Given the description of an element on the screen output the (x, y) to click on. 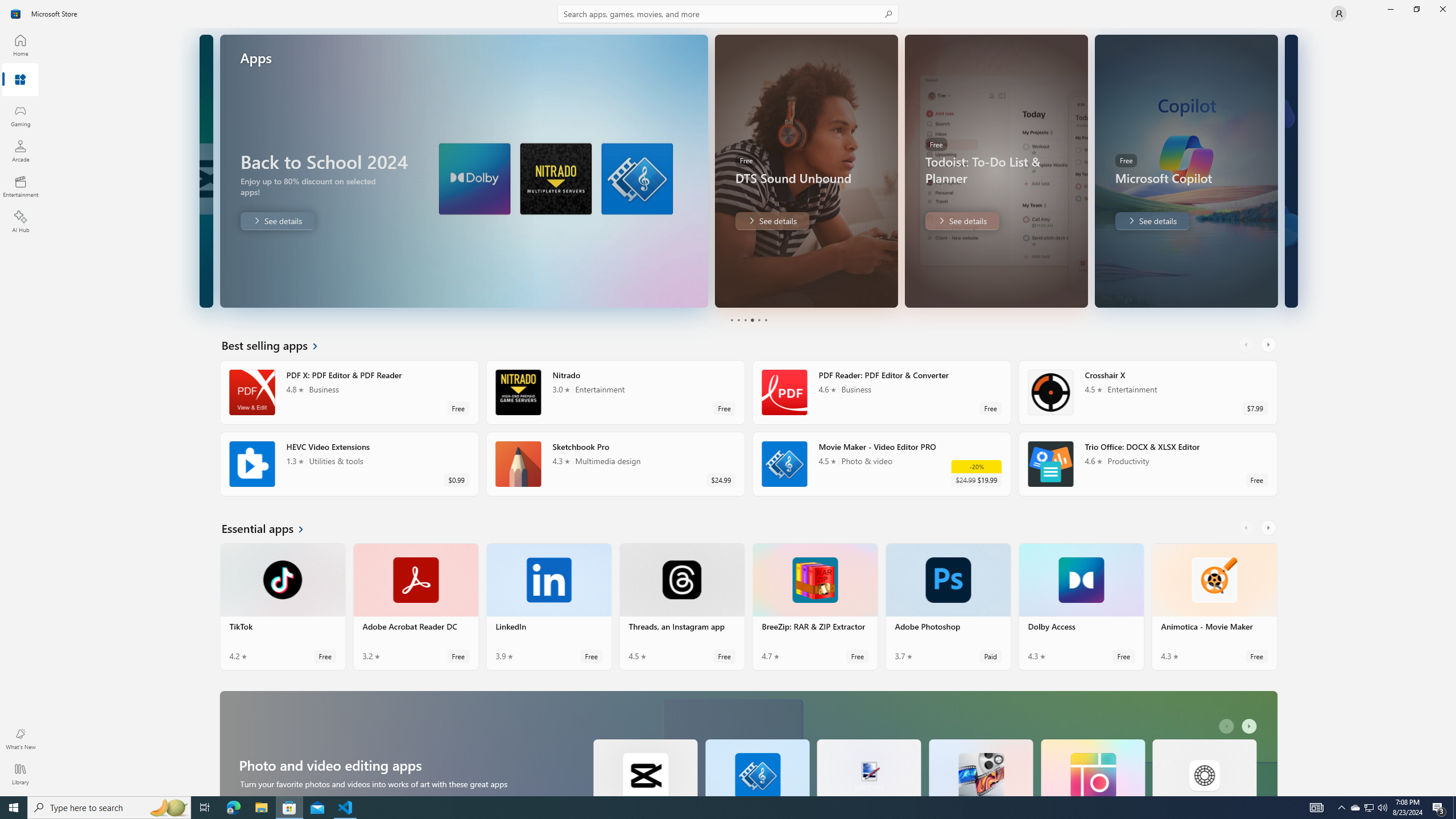
Pager (748, 319)
Entertainment (20, 185)
Close Microsoft Store (1442, 9)
Page 2 (738, 319)
AutomationID: LeftScrollButton (1227, 726)
